Given the description of an element on the screen output the (x, y) to click on. 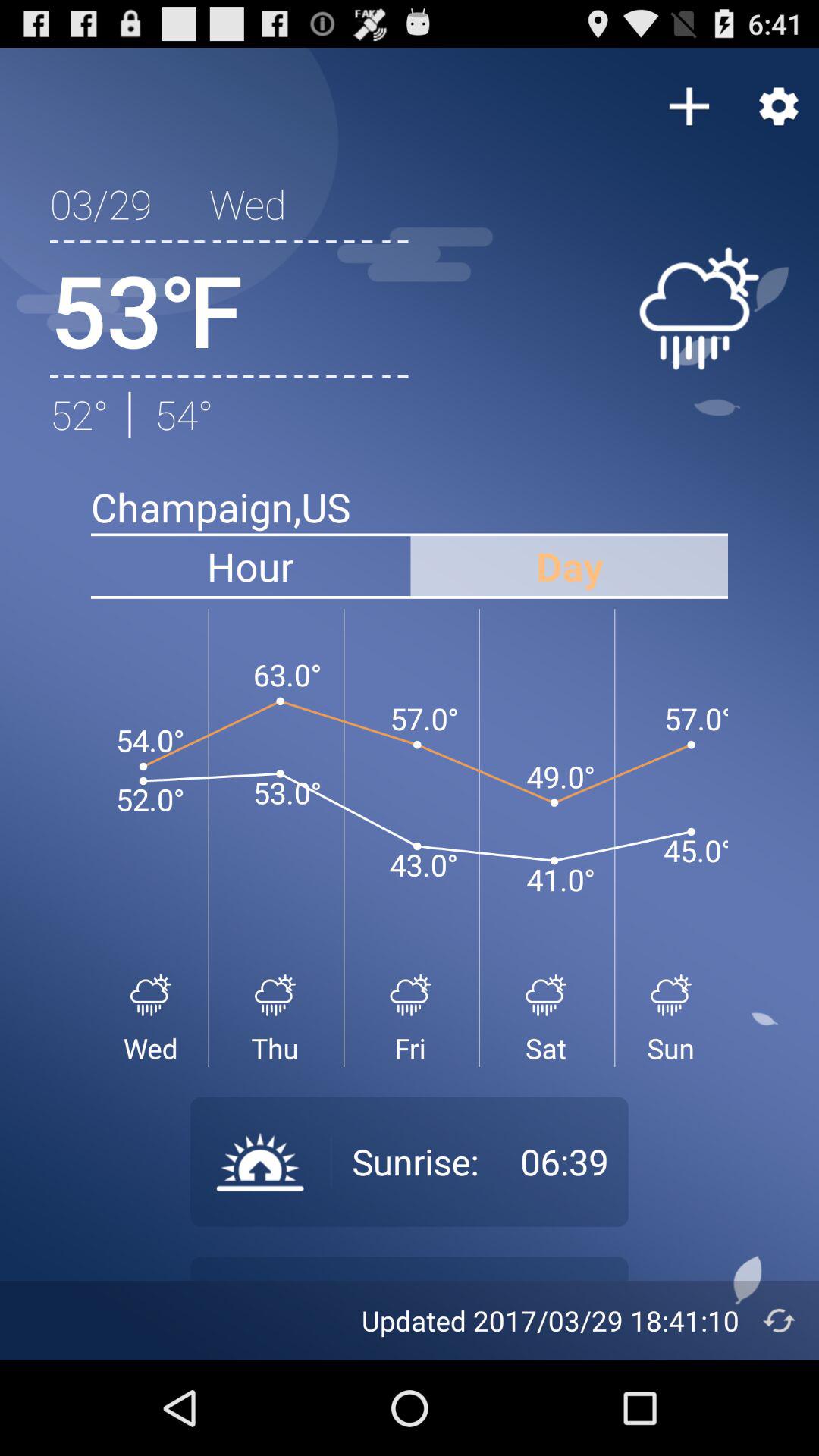
click item next to updated 2017 03 item (779, 1320)
